Given the description of an element on the screen output the (x, y) to click on. 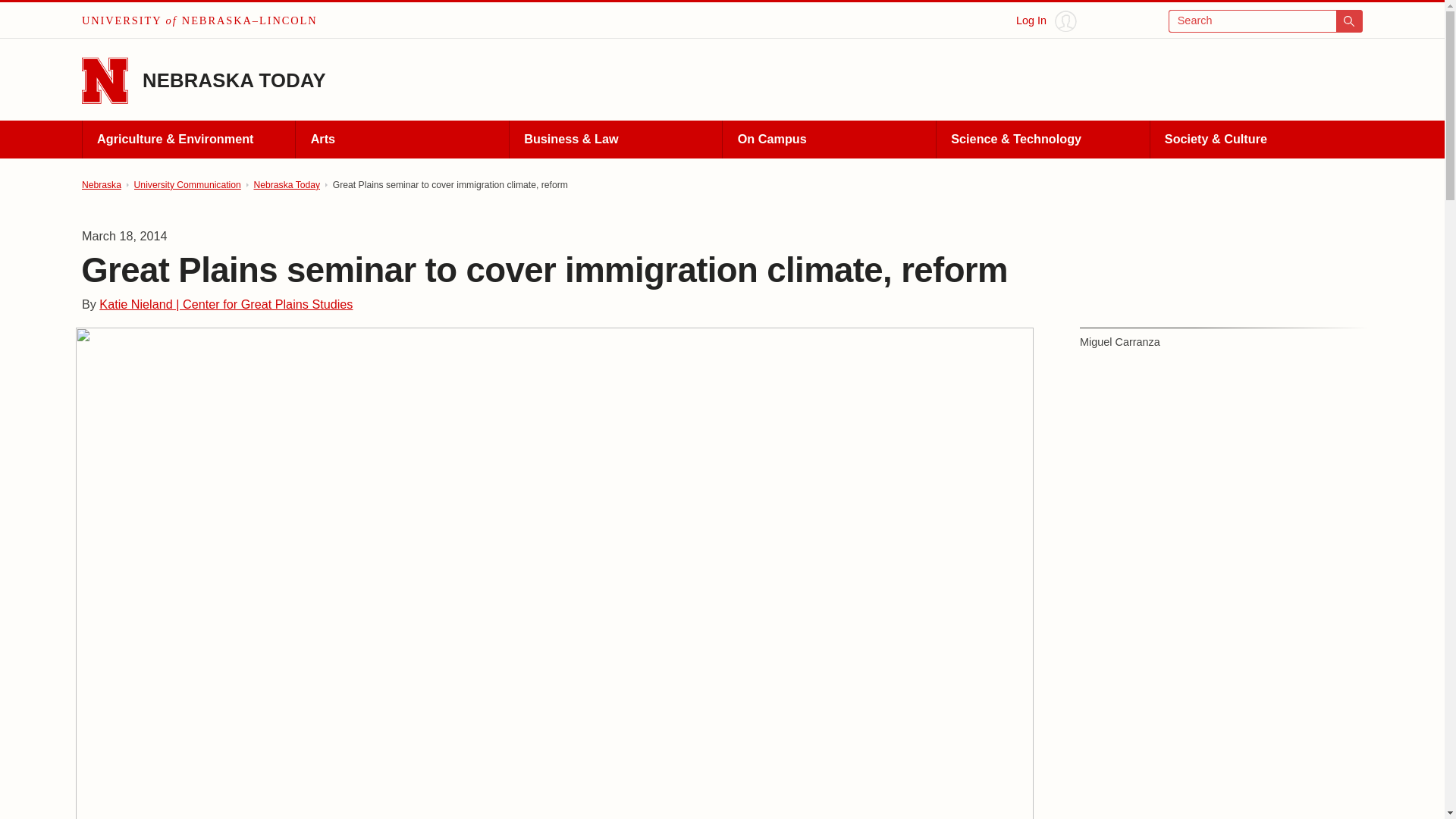
Nebraska (100, 184)
On Campus (829, 139)
NEBRASKA TODAY (234, 79)
Skip to main content (19, 16)
University Communication (187, 184)
Search (1265, 20)
Log In (1046, 21)
Arts (401, 139)
Nebraska Today (286, 184)
